Given the description of an element on the screen output the (x, y) to click on. 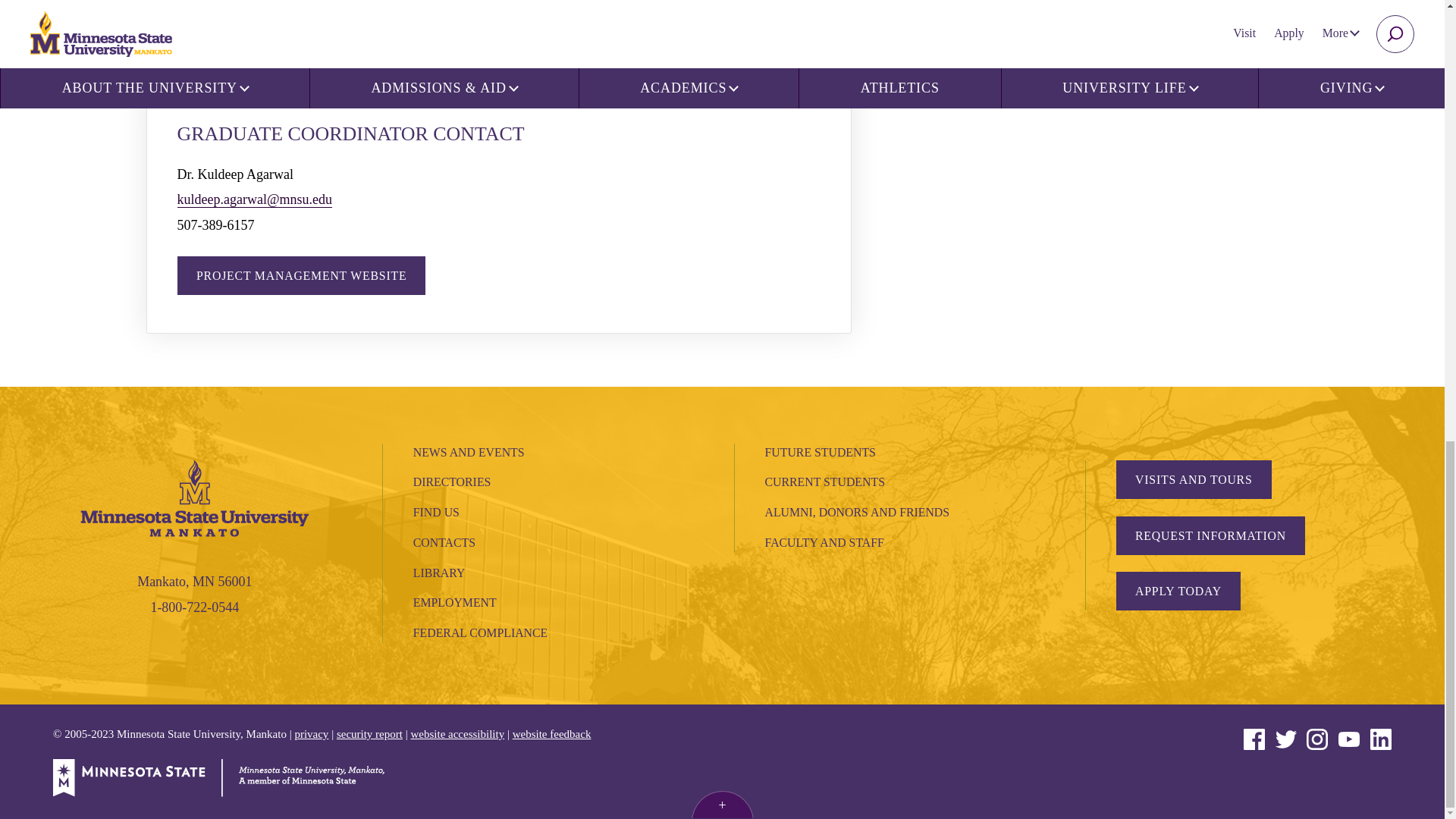
Request Information (1210, 535)
Visit Campus (1193, 479)
Minnesota State University, Mankato (194, 496)
